Given the description of an element on the screen output the (x, y) to click on. 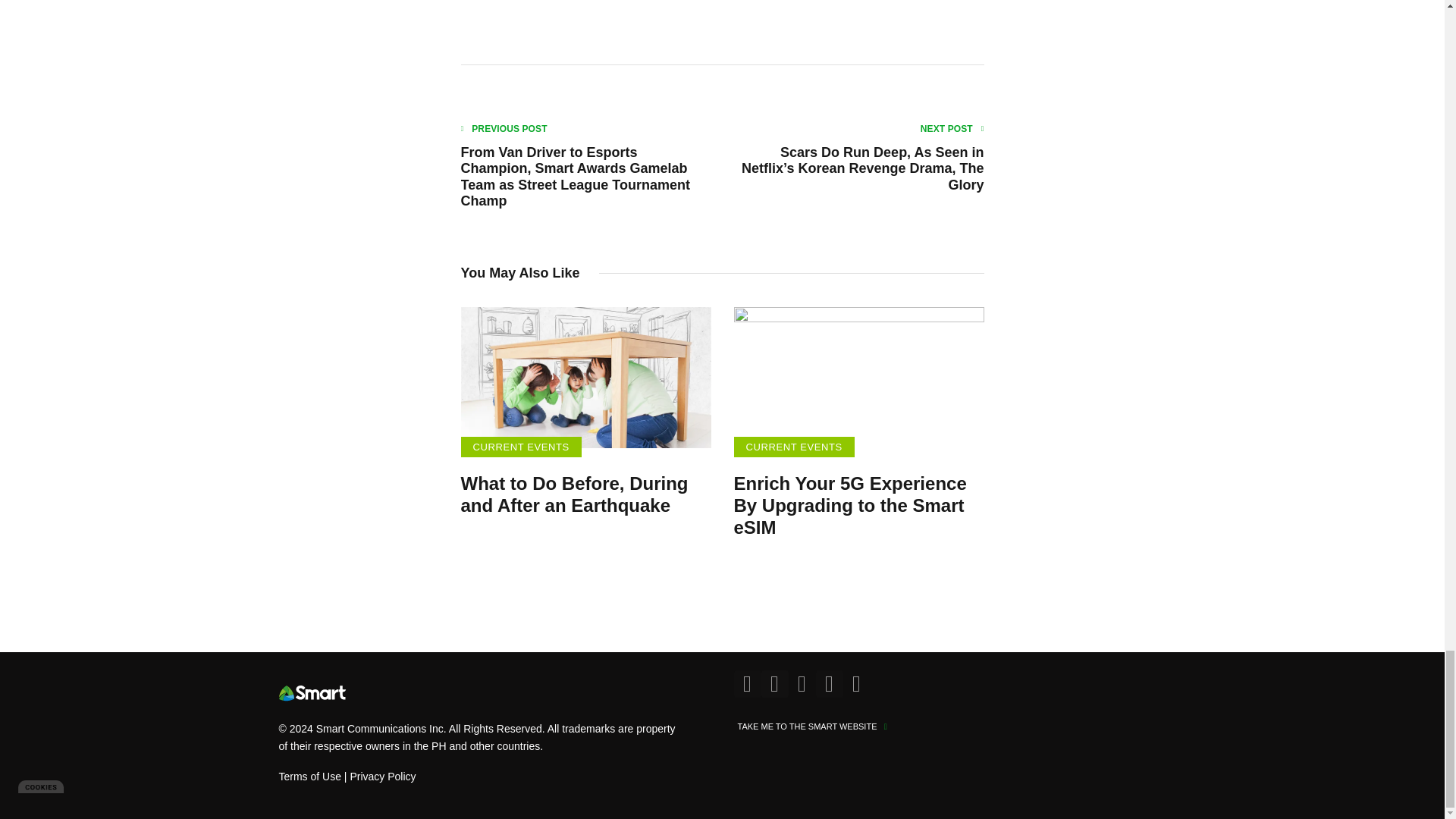
smart-footer (312, 693)
